Given the description of an element on the screen output the (x, y) to click on. 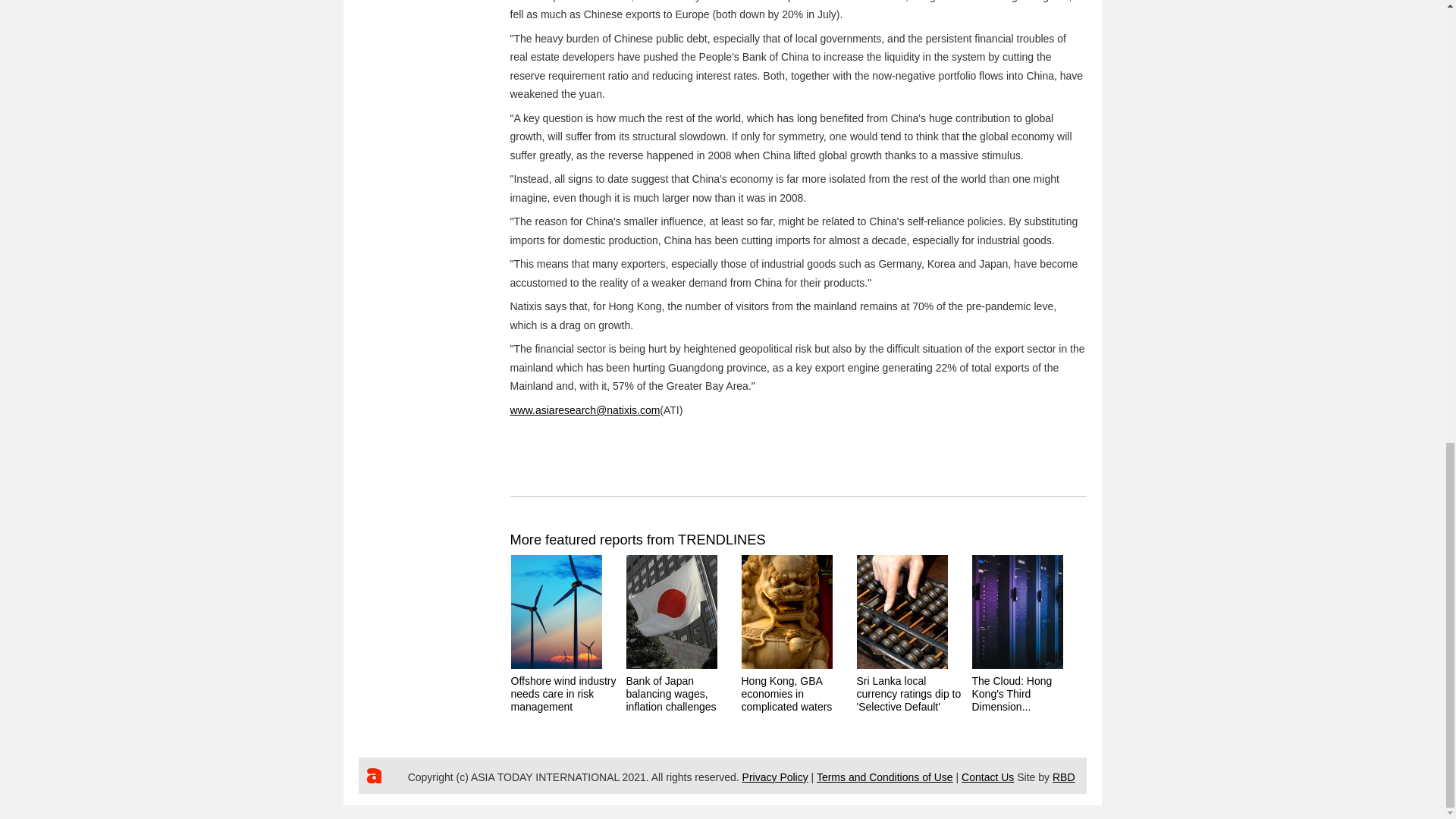
Contact Us (986, 776)
Terms and Conditions of Use (884, 776)
Offshore wind industry needs care in risk management (563, 693)
Privacy Policy (775, 776)
Hong Kong, GBA economies in complicated waters (786, 693)
The Cloud: Hong Kong's Third Dimension... (1012, 693)
Bank of Japan balancing wages, inflation challenges (671, 693)
Sri Lanka local currency ratings dip to 'Selective Default'  (908, 693)
